Given the description of an element on the screen output the (x, y) to click on. 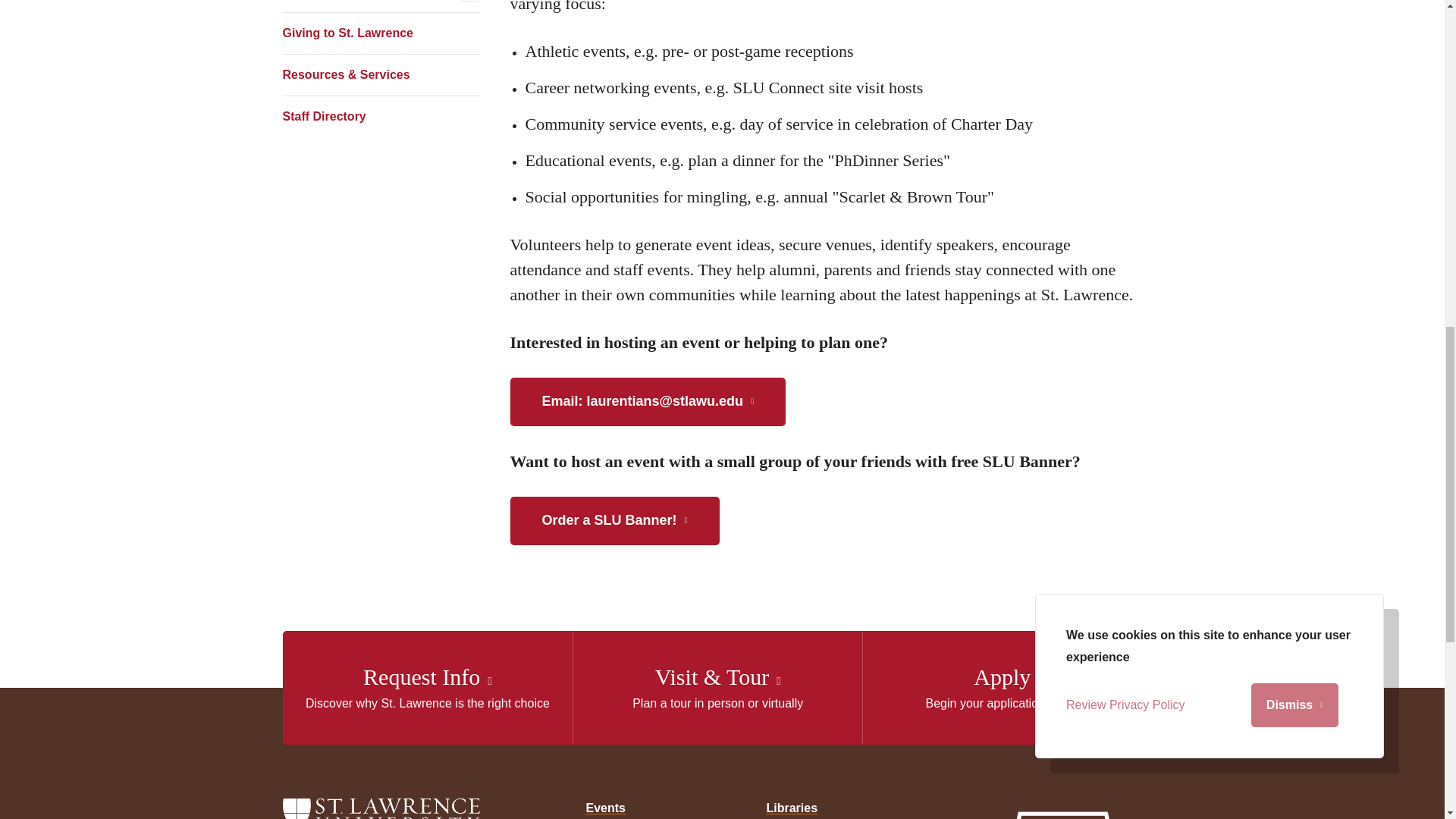
SLU Banner (614, 520)
Bookstore Logo 2023 (1062, 808)
